Given the description of an element on the screen output the (x, y) to click on. 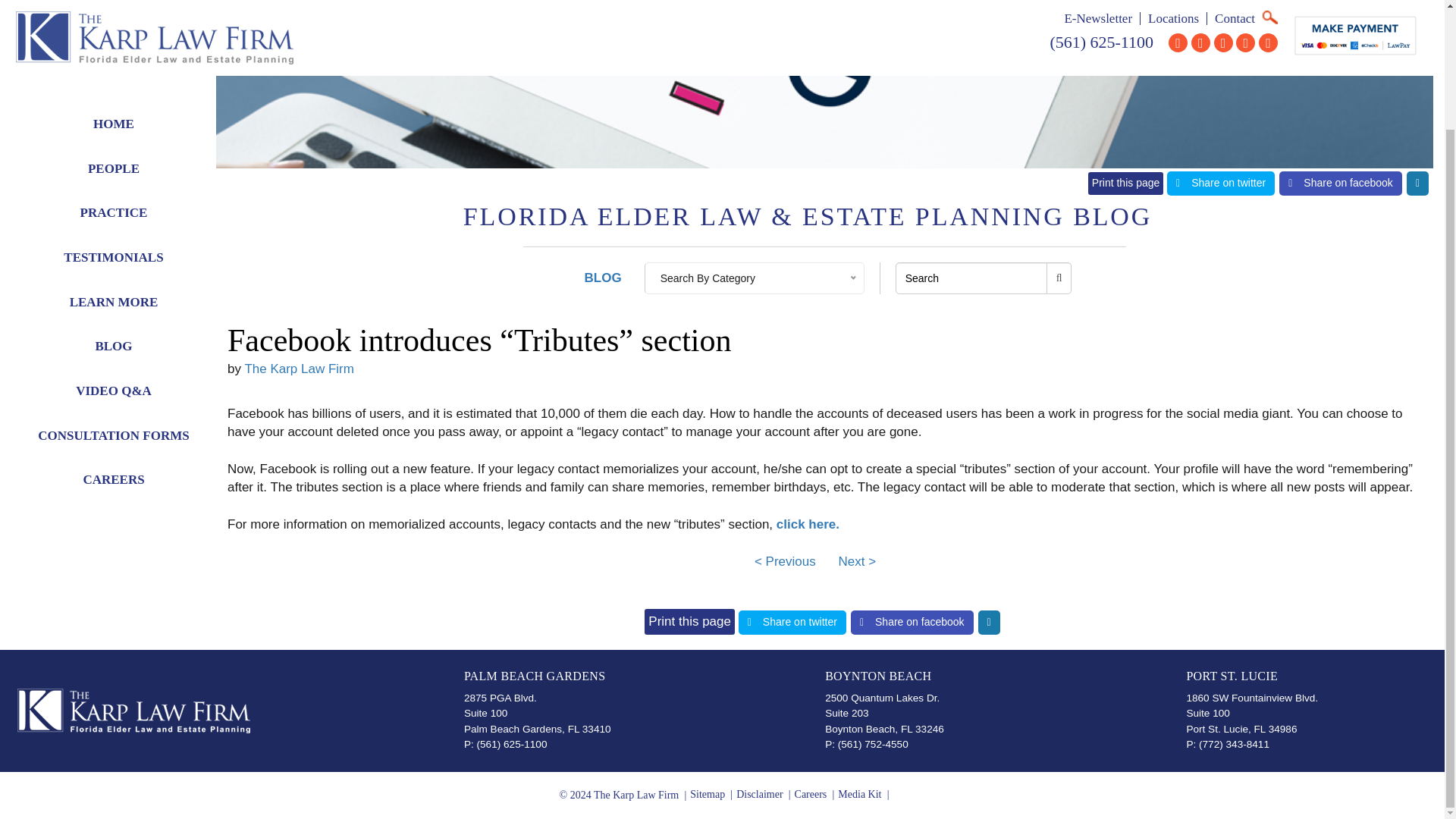
TESTIMONIALS (113, 115)
PRACTICE (113, 70)
HOME (113, 2)
People (113, 26)
LEARN MORE (113, 160)
PEOPLE (113, 26)
Practice (113, 70)
Home (113, 2)
